Given the description of an element on the screen output the (x, y) to click on. 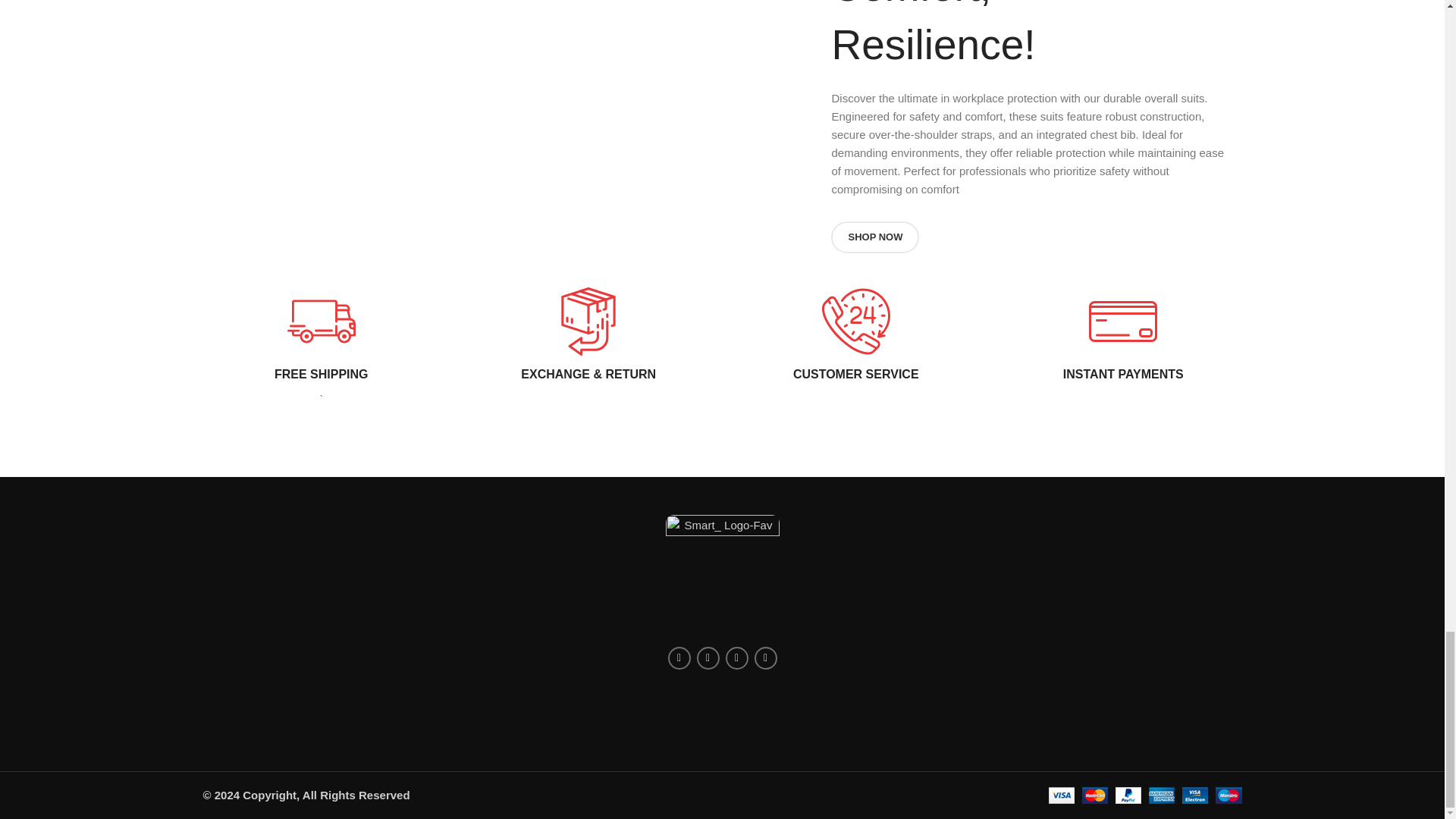
SHOP NOW (874, 237)
